Given the description of an element on the screen output the (x, y) to click on. 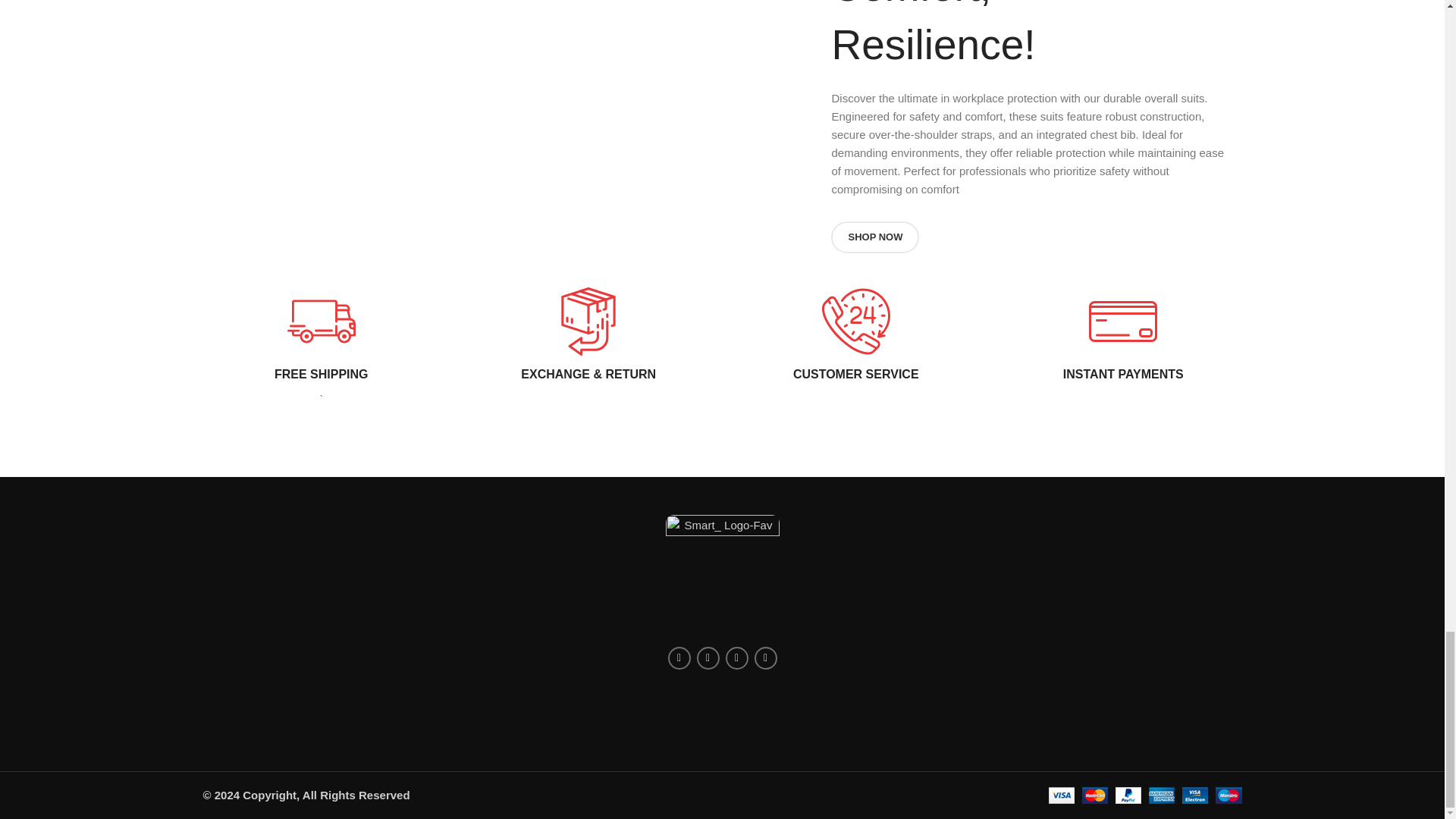
SHOP NOW (874, 237)
